Given the description of an element on the screen output the (x, y) to click on. 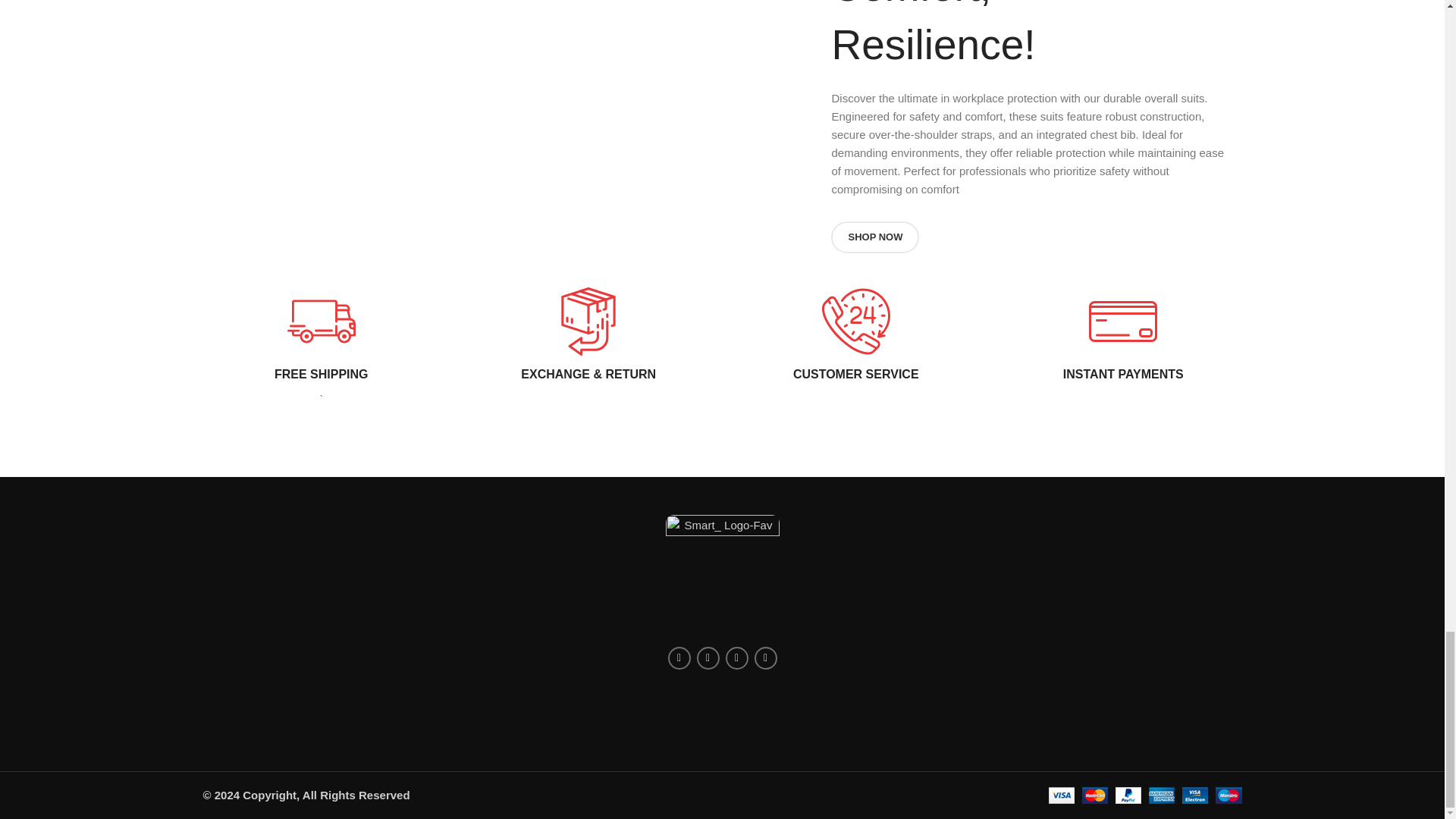
SHOP NOW (874, 237)
